Given the description of an element on the screen output the (x, y) to click on. 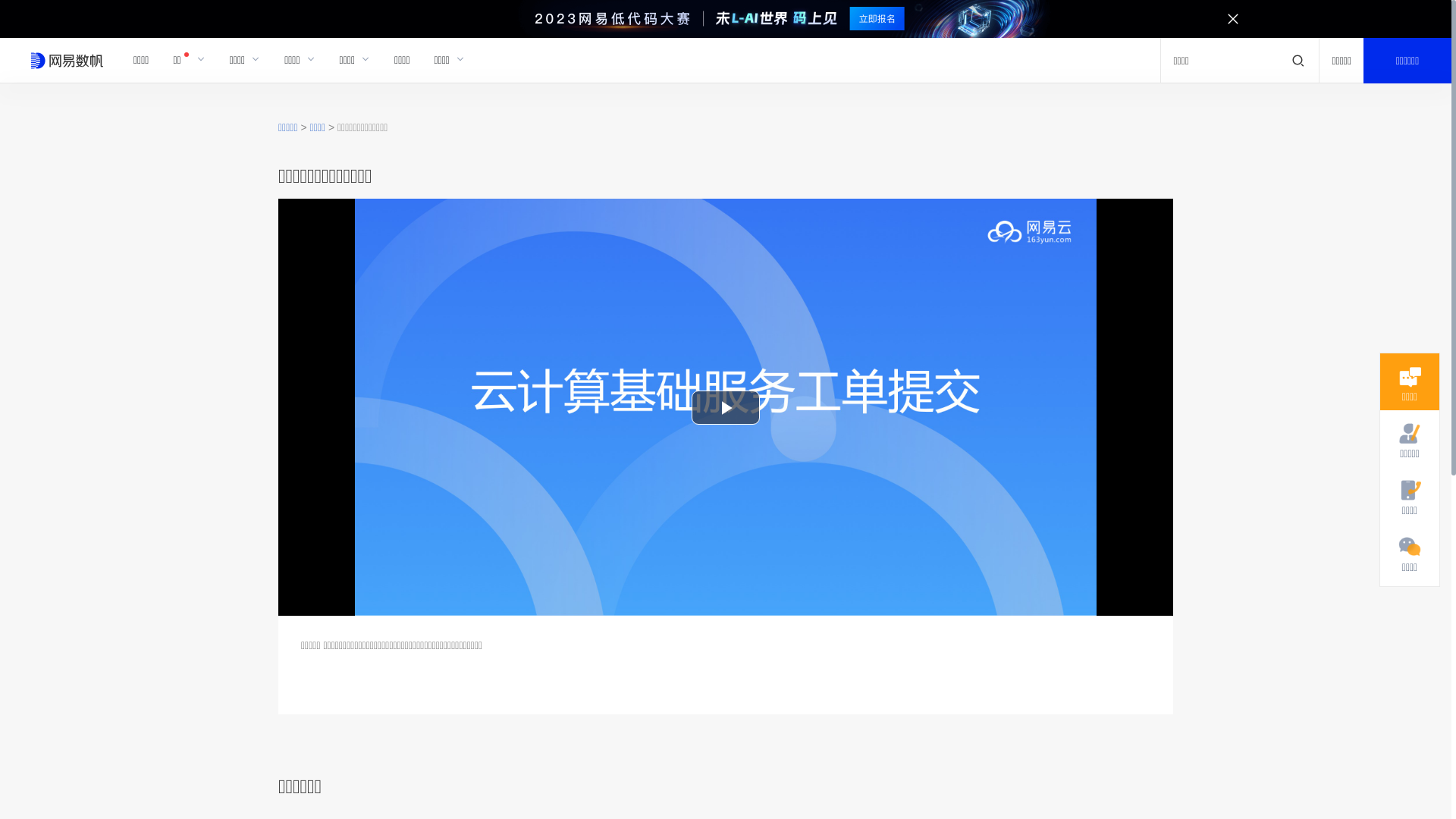
Play Video Element type: text (725, 407)
